Given the description of an element on the screen output the (x, y) to click on. 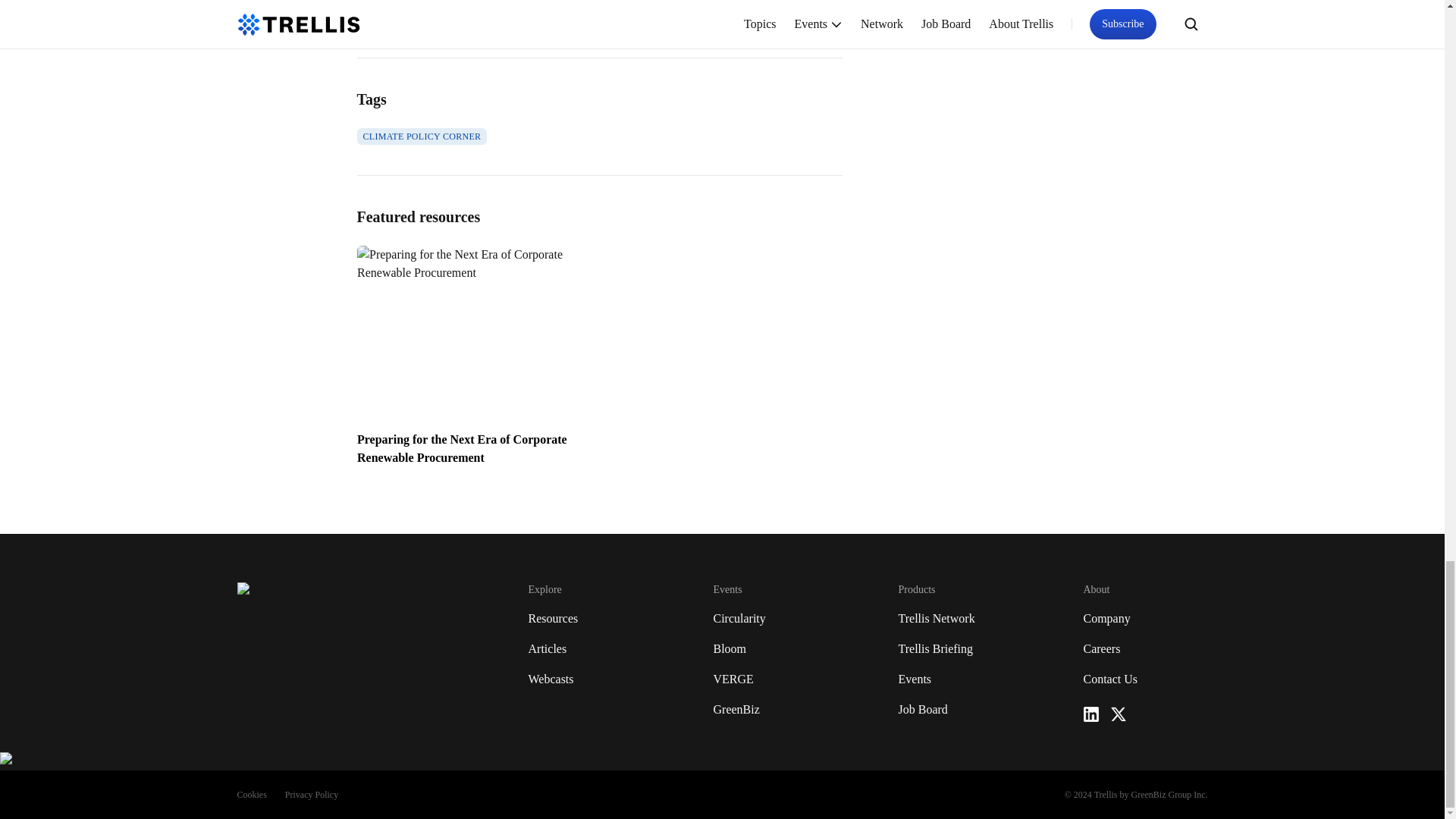
CLIMATE POLICY CORNER (421, 135)
